Given the description of an element on the screen output the (x, y) to click on. 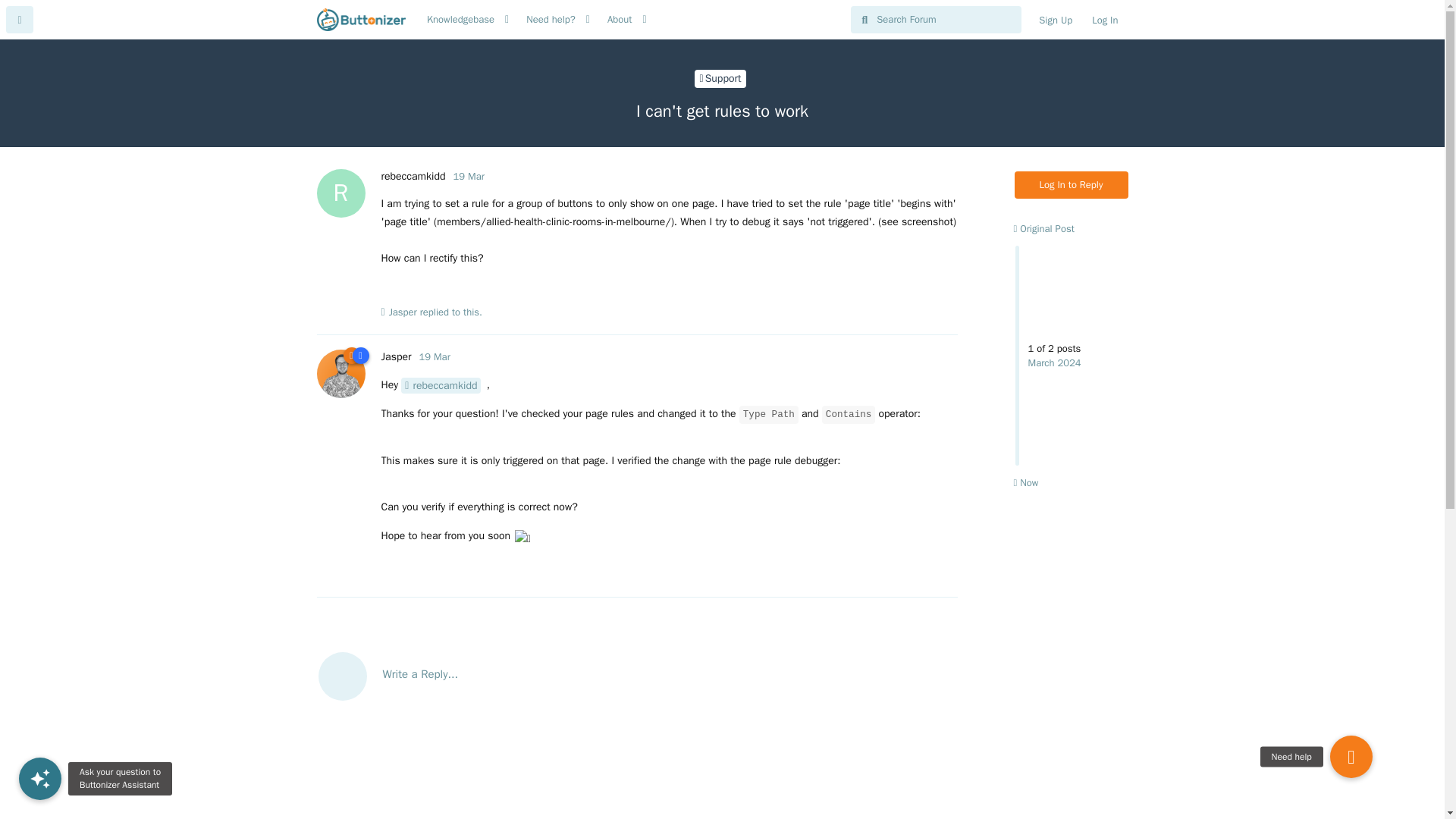
Support (720, 78)
Need help? (550, 19)
rebeccamkidd (440, 385)
Original Post (1043, 228)
About (619, 19)
Ask your questions about Buttonizer here. (720, 78)
Log In to Reply (1071, 185)
Sign Up (1055, 19)
Tuesday, March 19, 2024 5:21 PM (434, 356)
Knowledgebase (459, 19)
19 Mar (434, 356)
Jasper (395, 356)
Tuesday, March 19, 2024 8:56 AM (468, 175)
Jasper (402, 312)
Now (1025, 481)
